Given the description of an element on the screen output the (x, y) to click on. 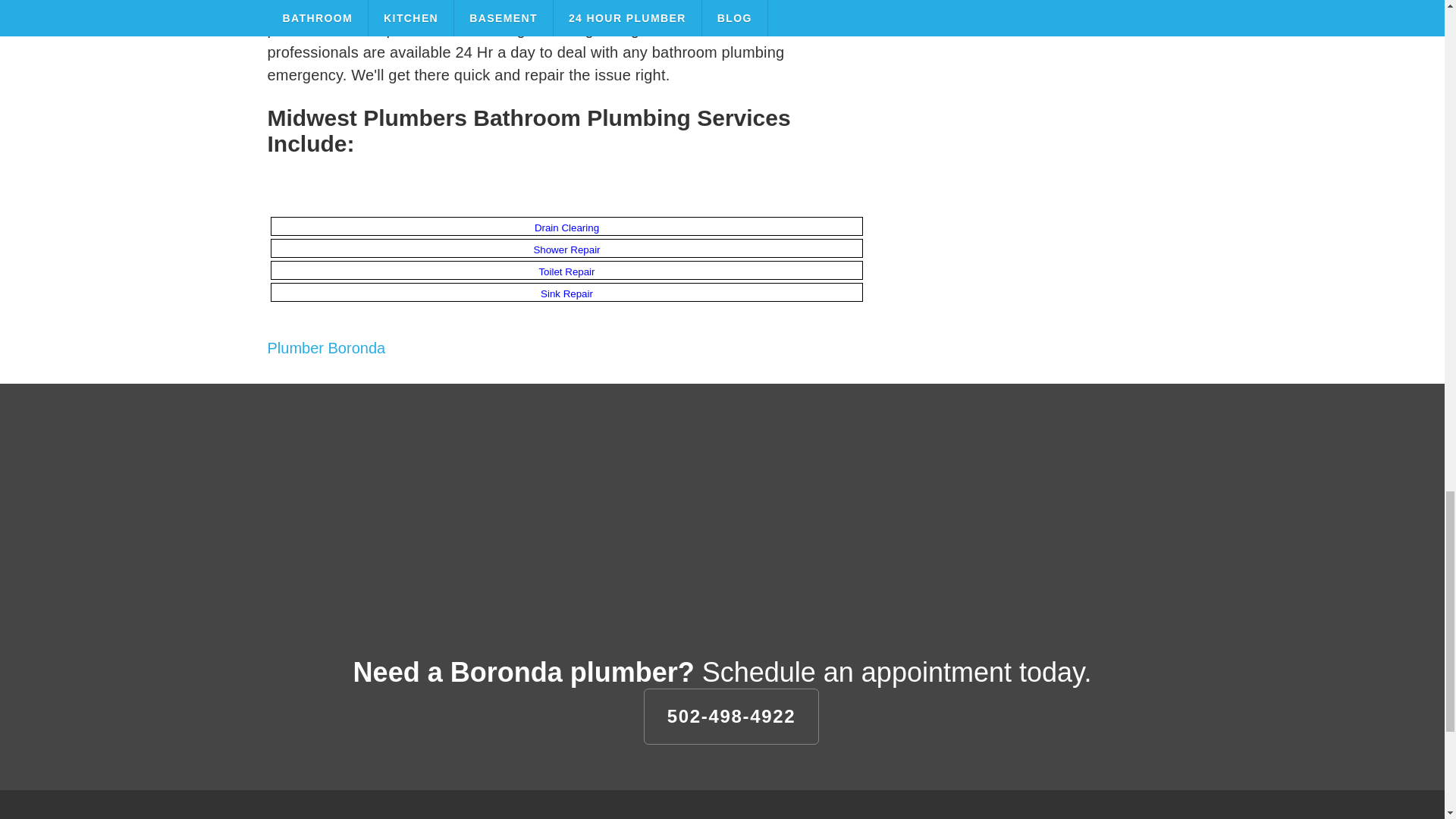
Toilet Repair (566, 271)
Plumber Boronda (325, 347)
Drain Clearing (566, 227)
Sink Repair (566, 293)
Shower Repair (565, 249)
502-498-4922 (731, 716)
